Given the description of an element on the screen output the (x, y) to click on. 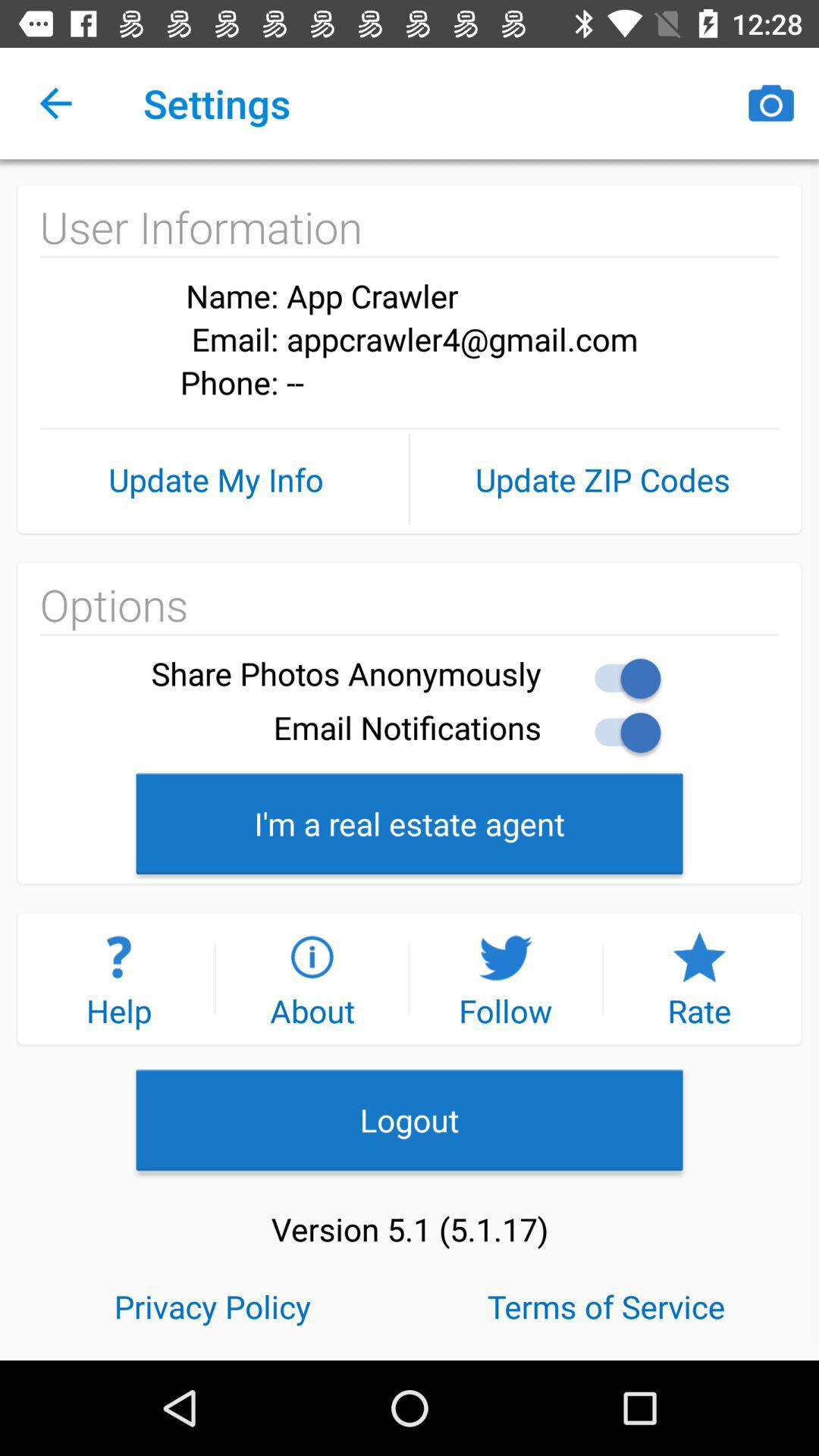
choose icon below i m a item (312, 978)
